Given the description of an element on the screen output the (x, y) to click on. 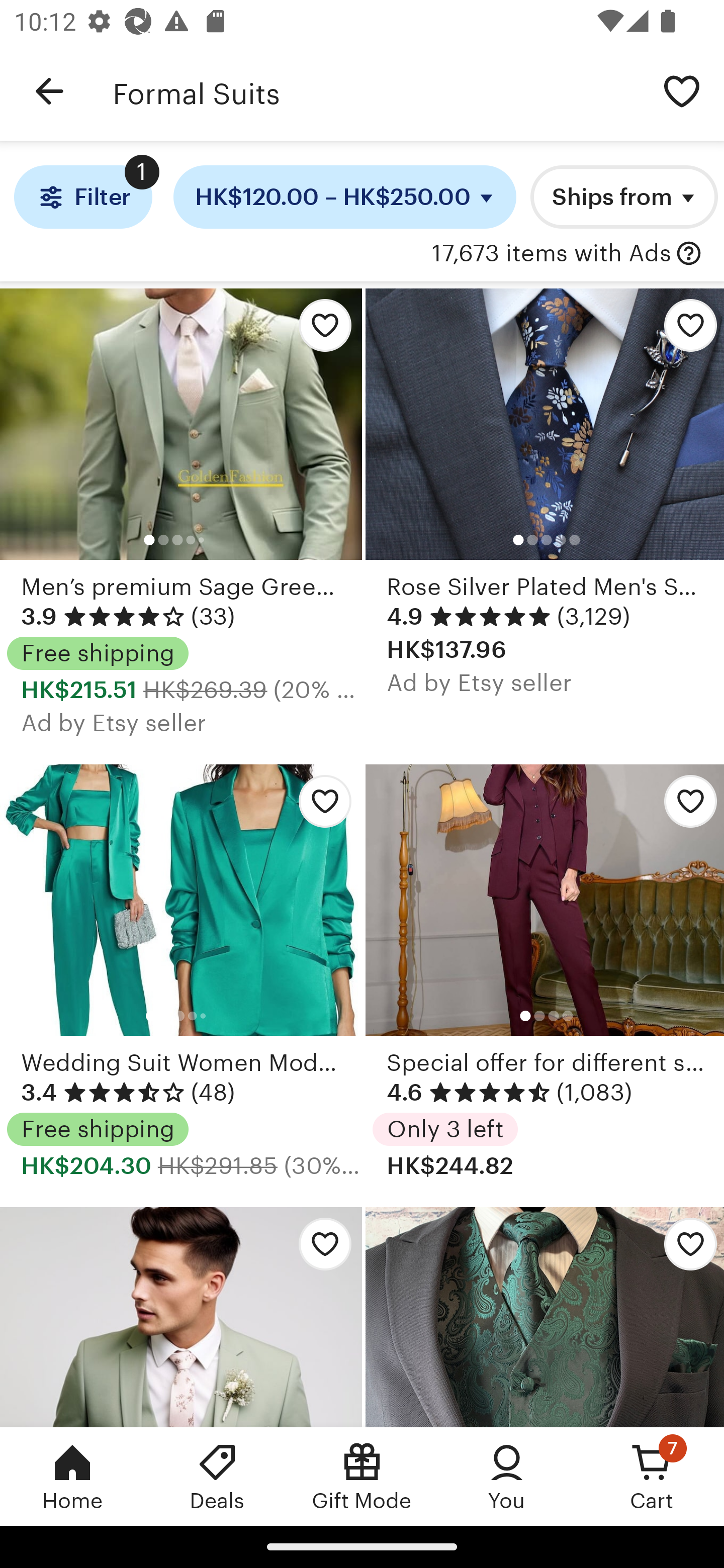
Navigate up (49, 91)
Save search (681, 90)
Formal Suits (375, 91)
Filter (82, 197)
HK$120.00 – HK$250.00 (344, 197)
Ships from (624, 197)
17,673 items with Ads (551, 253)
with Ads (688, 253)
Deals (216, 1475)
Gift Mode (361, 1475)
You (506, 1475)
Cart, 7 new notifications Cart (651, 1475)
